Given the description of an element on the screen output the (x, y) to click on. 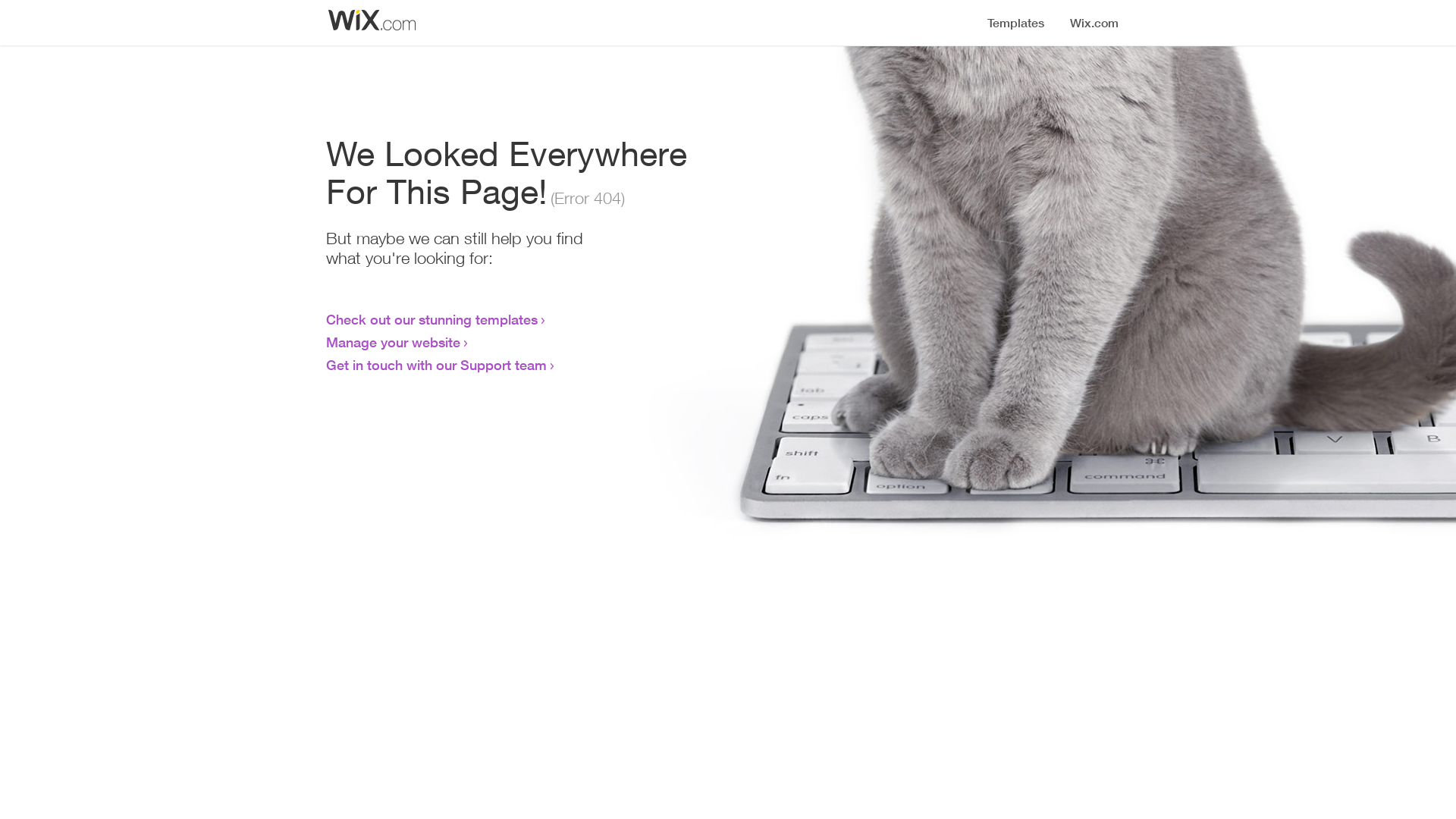
Get in touch with our Support team Element type: text (436, 364)
Check out our stunning templates Element type: text (431, 318)
Manage your website Element type: text (393, 341)
